Given the description of an element on the screen output the (x, y) to click on. 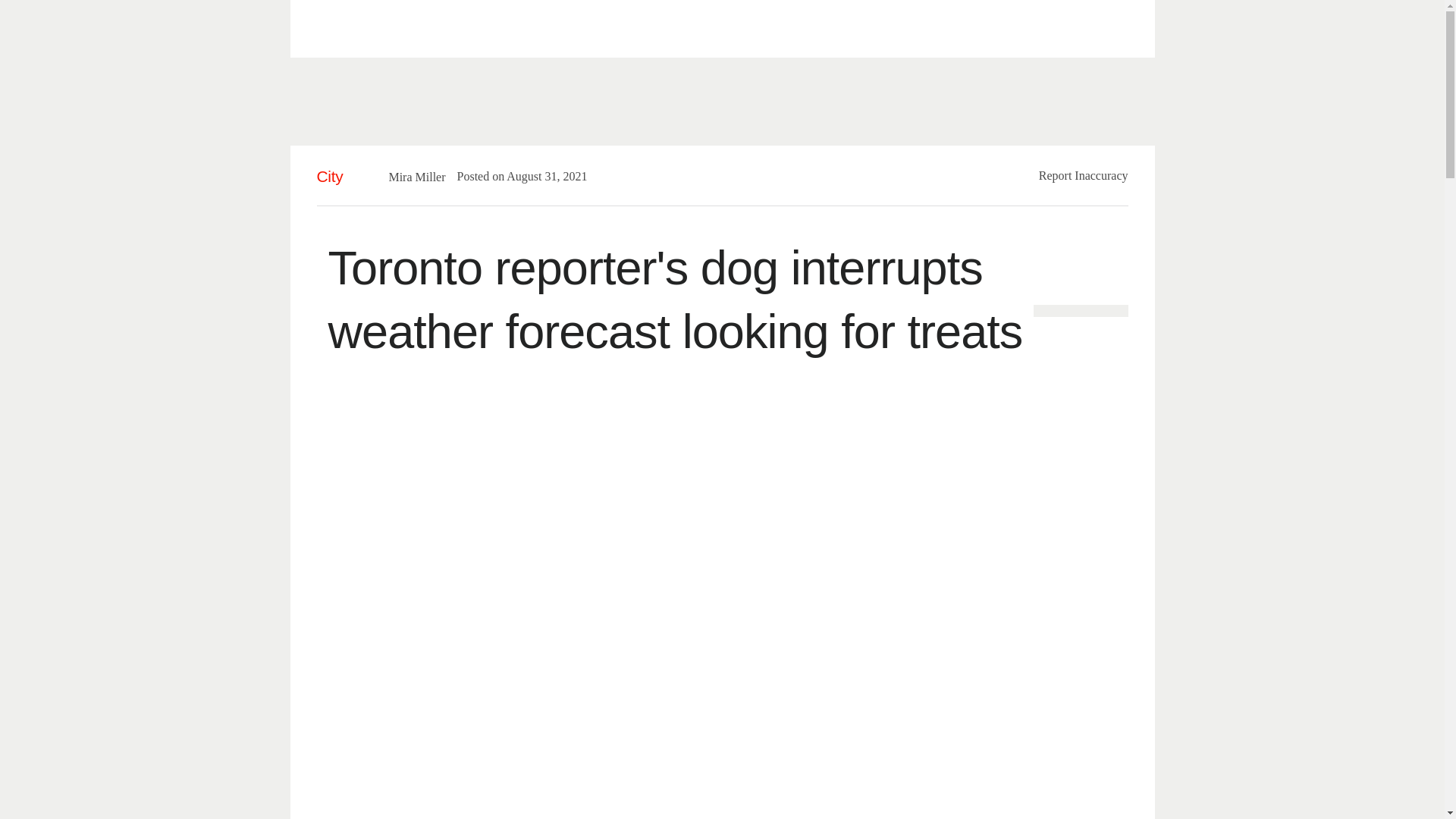
City (330, 175)
2021-08-31T10:23:27 (539, 175)
Report Inaccuracy (1083, 174)
